Given the description of an element on the screen output the (x, y) to click on. 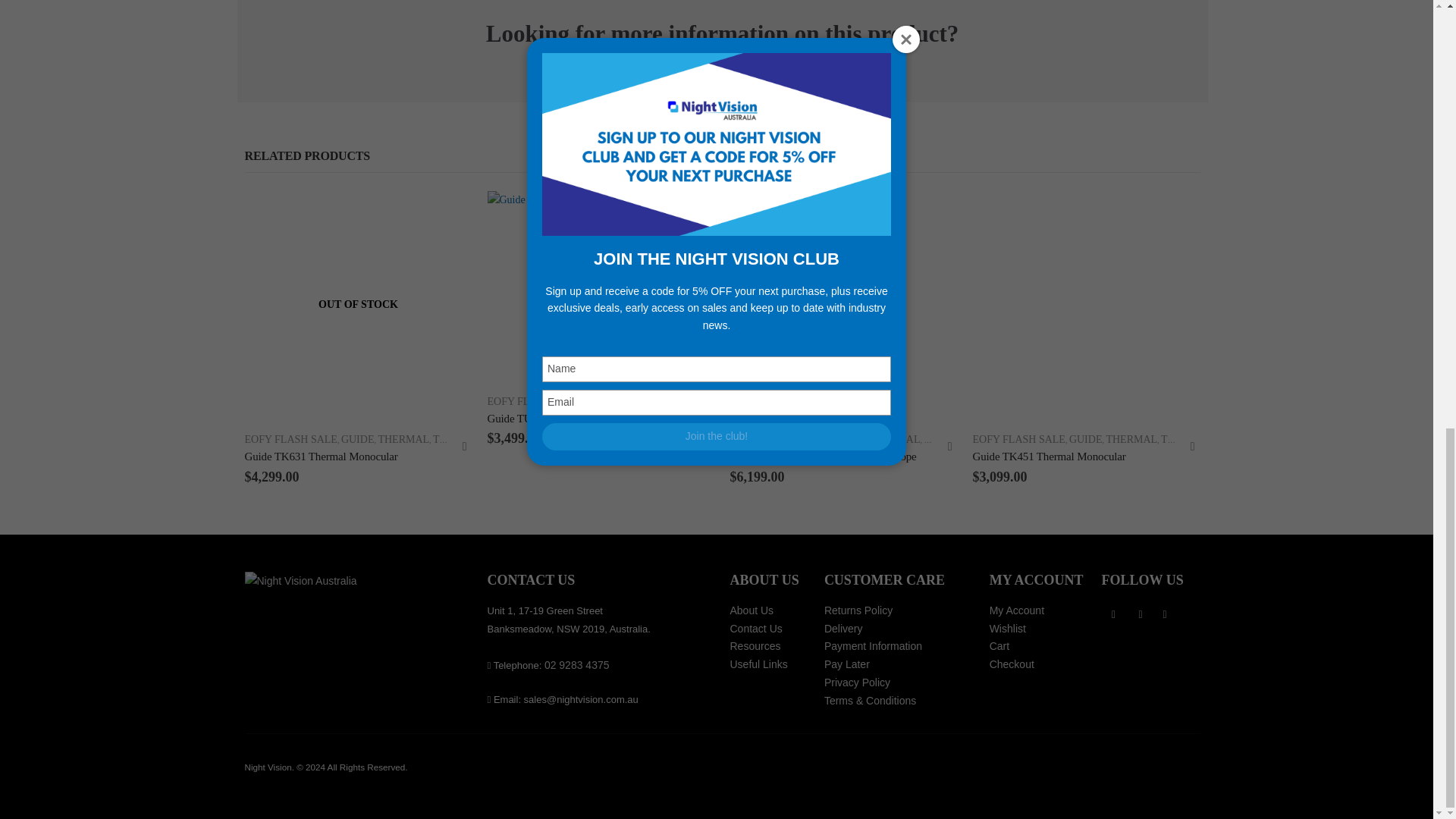
Facebook (1112, 613)
Linkedin (1164, 613)
Twitter (1140, 613)
